Given the description of an element on the screen output the (x, y) to click on. 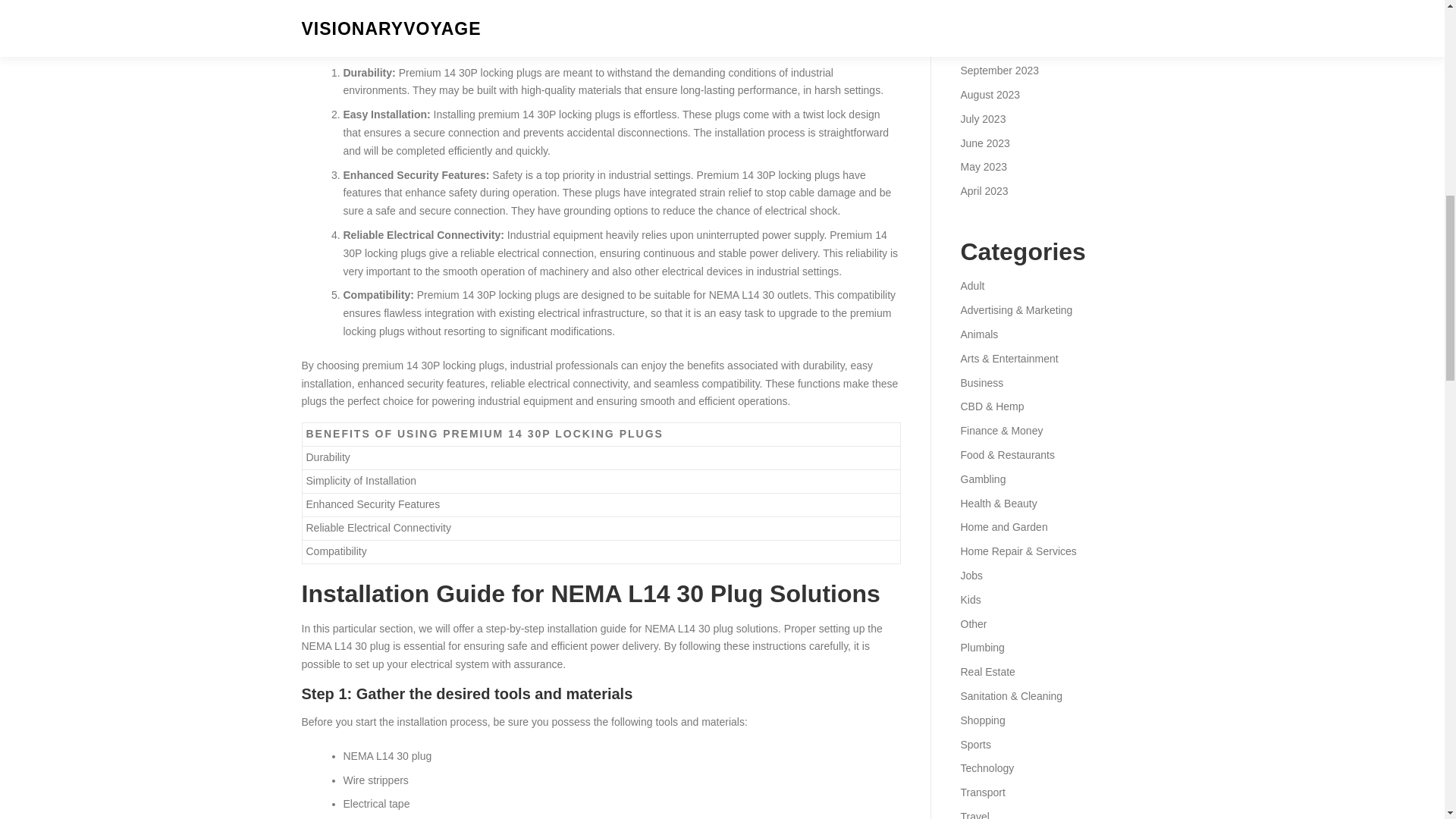
Adult (971, 285)
Animals (978, 334)
July 2023 (982, 119)
November 2023 (997, 22)
September 2023 (999, 70)
October 2023 (992, 46)
August 2023 (989, 94)
December 2023 (997, 2)
Business (981, 382)
June 2023 (984, 143)
